Given the description of an element on the screen output the (x, y) to click on. 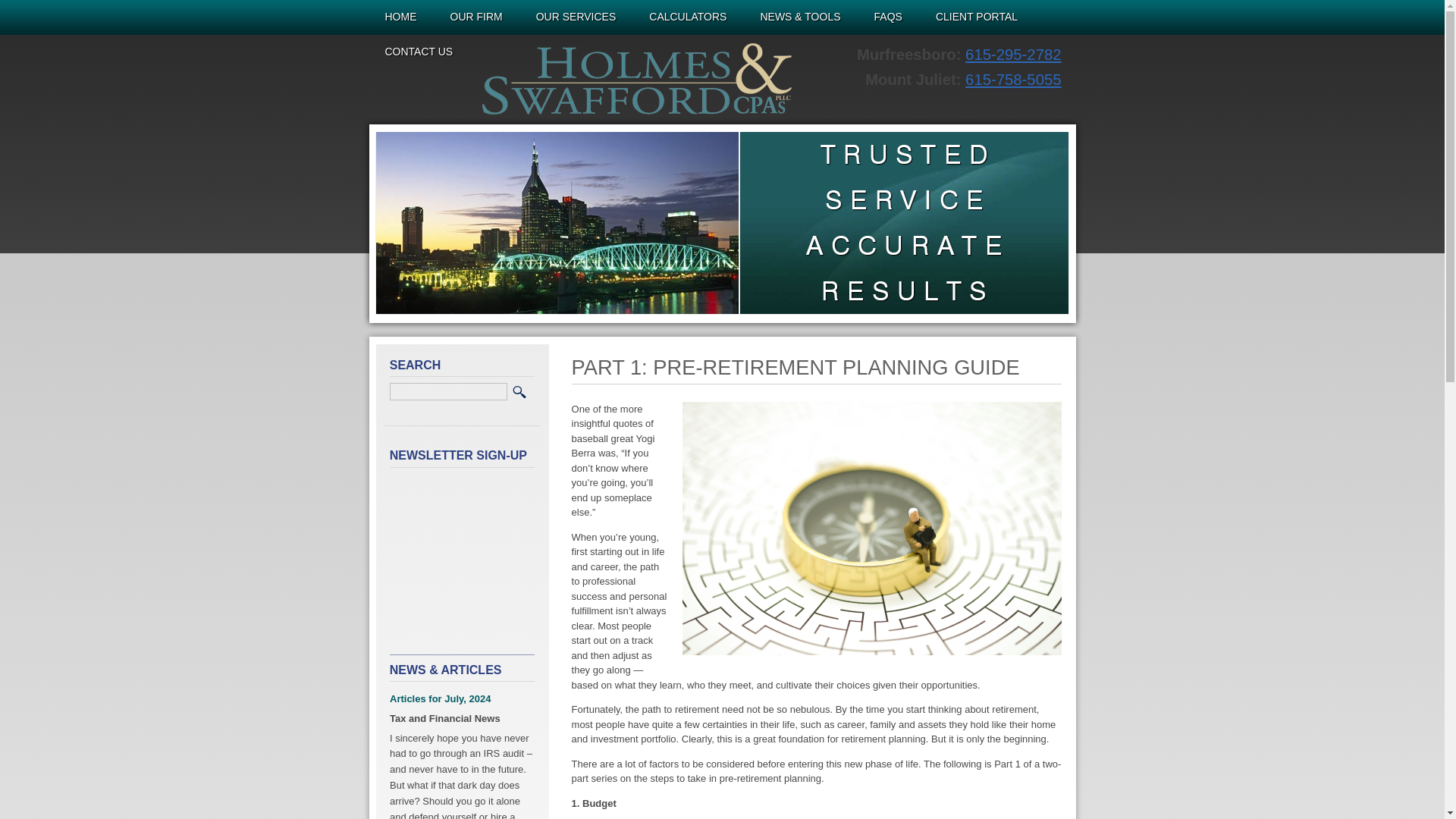
615-295-2782 (1013, 54)
CLIENT PORTAL (976, 16)
GO (519, 391)
615-758-5055 (1013, 79)
CALCULATORS (687, 16)
FAQS (888, 16)
HOME (400, 16)
OUR SERVICES (575, 16)
GO (519, 391)
OUR FIRM (475, 16)
CONTACT US (418, 51)
